Given the description of an element on the screen output the (x, y) to click on. 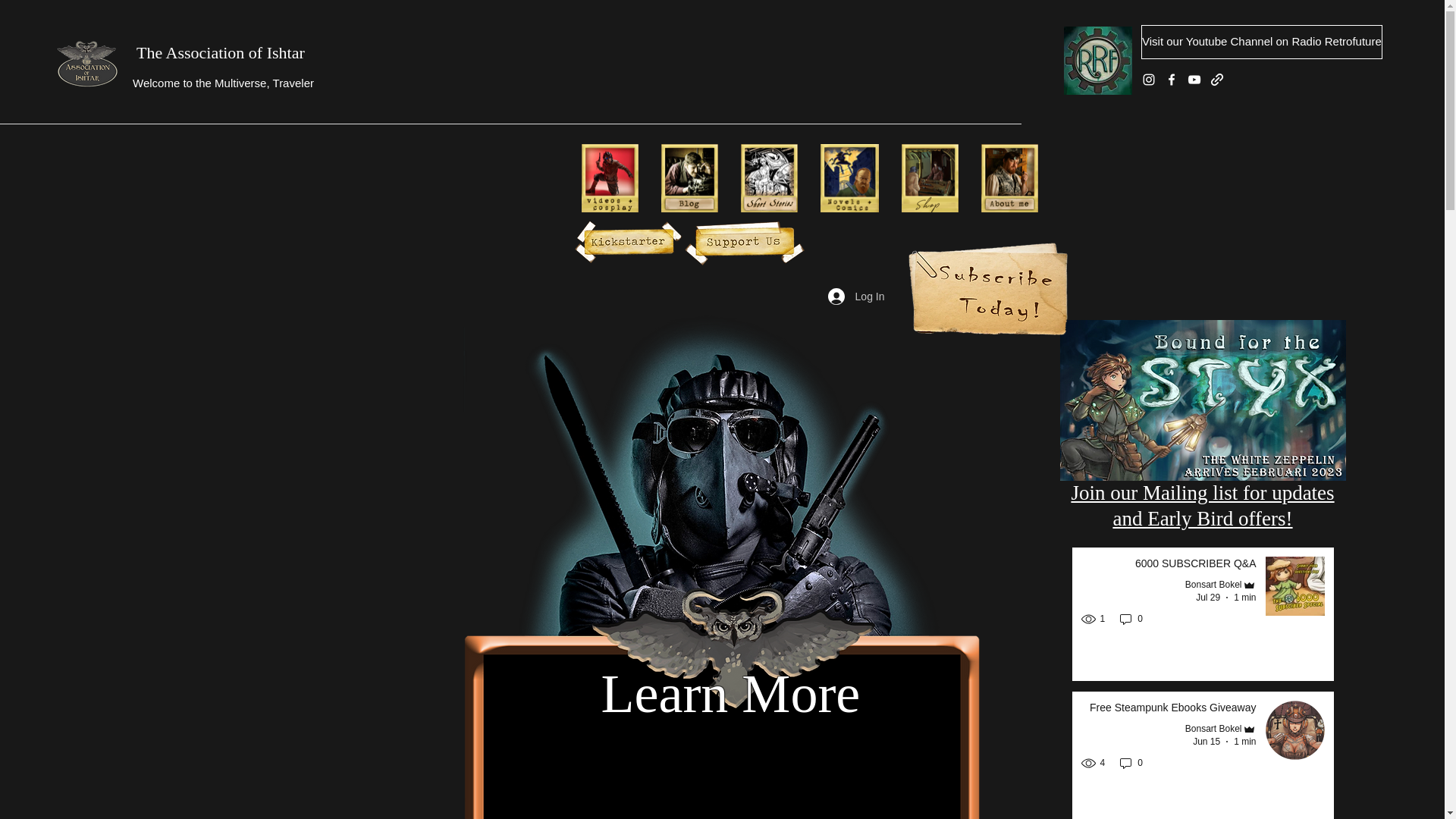
Bonsart Bokel (1220, 585)
1 min (1244, 597)
0 (1131, 618)
Visit our Youtube Channel on Radio Retrofuture (1261, 41)
Jul 29 (1207, 597)
Bonsart Bokel (1220, 728)
Log In (855, 296)
Jun 15 (1206, 741)
0 (1201, 505)
